Given the description of an element on the screen output the (x, y) to click on. 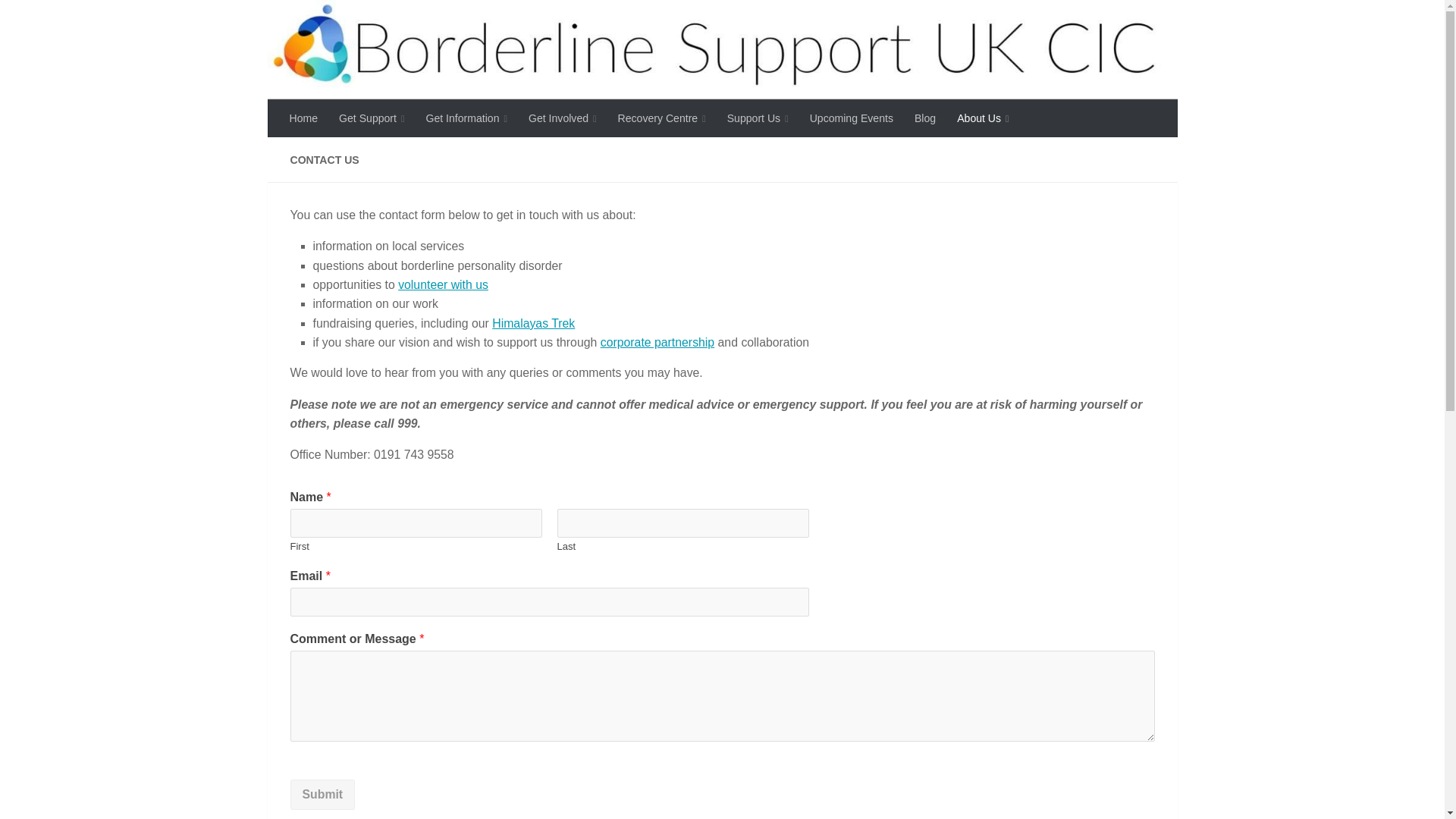
Get Information (466, 118)
Skip to content (58, 19)
Get Support (371, 118)
Home (304, 118)
